Given the description of an element on the screen output the (x, y) to click on. 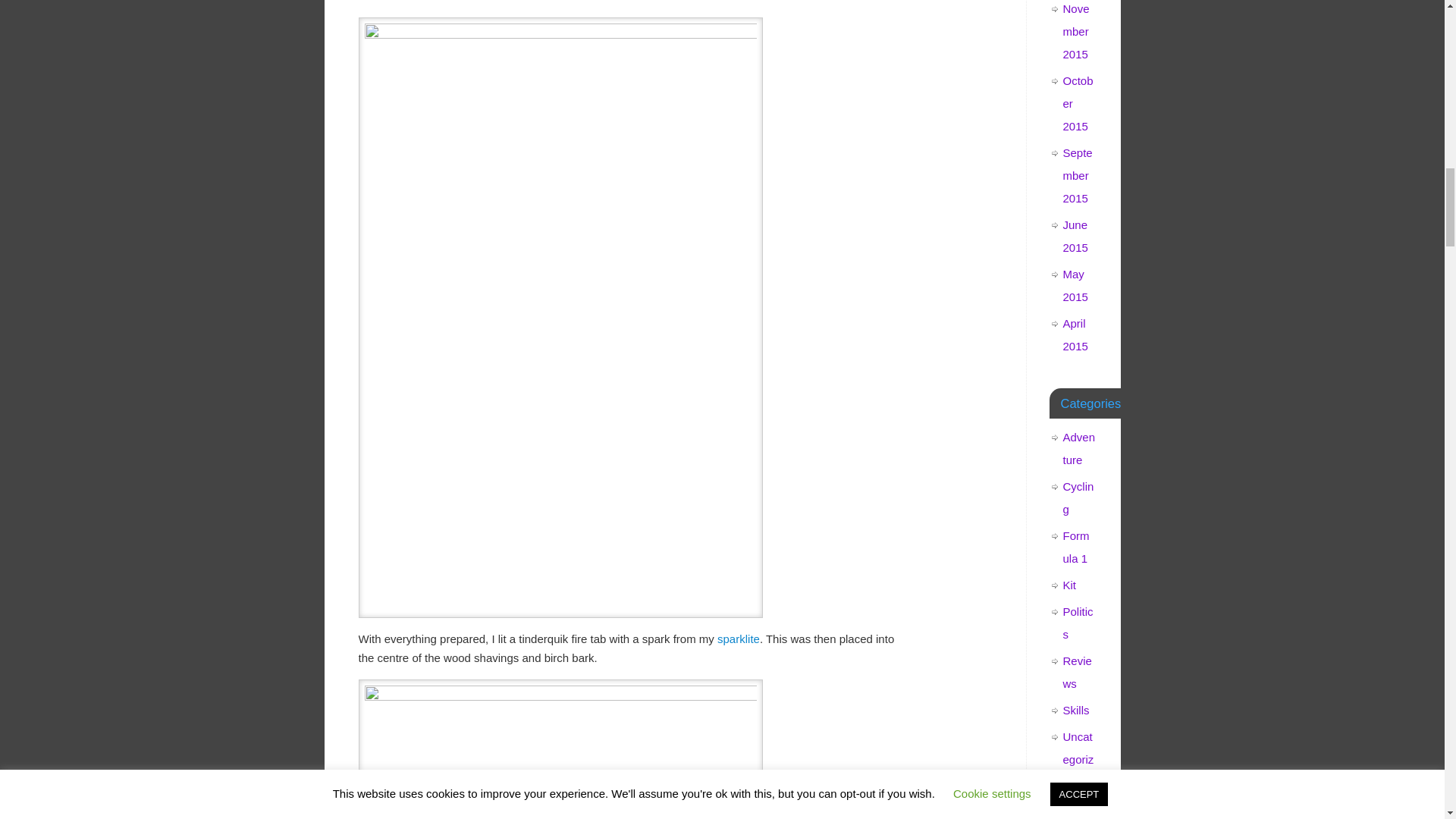
sparklite (738, 638)
